Given the description of an element on the screen output the (x, y) to click on. 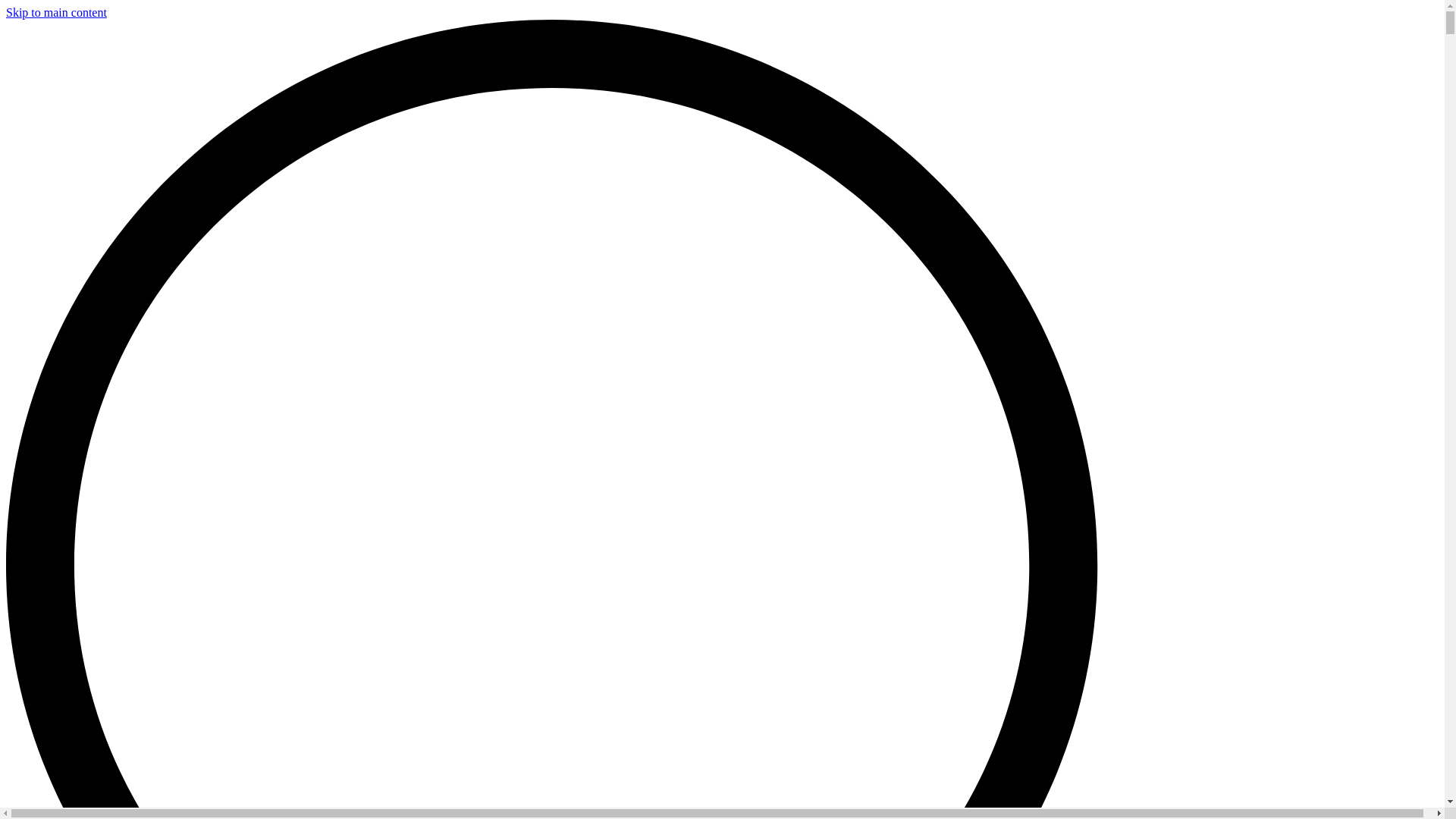
Skip to main content (55, 11)
